Given the description of an element on the screen output the (x, y) to click on. 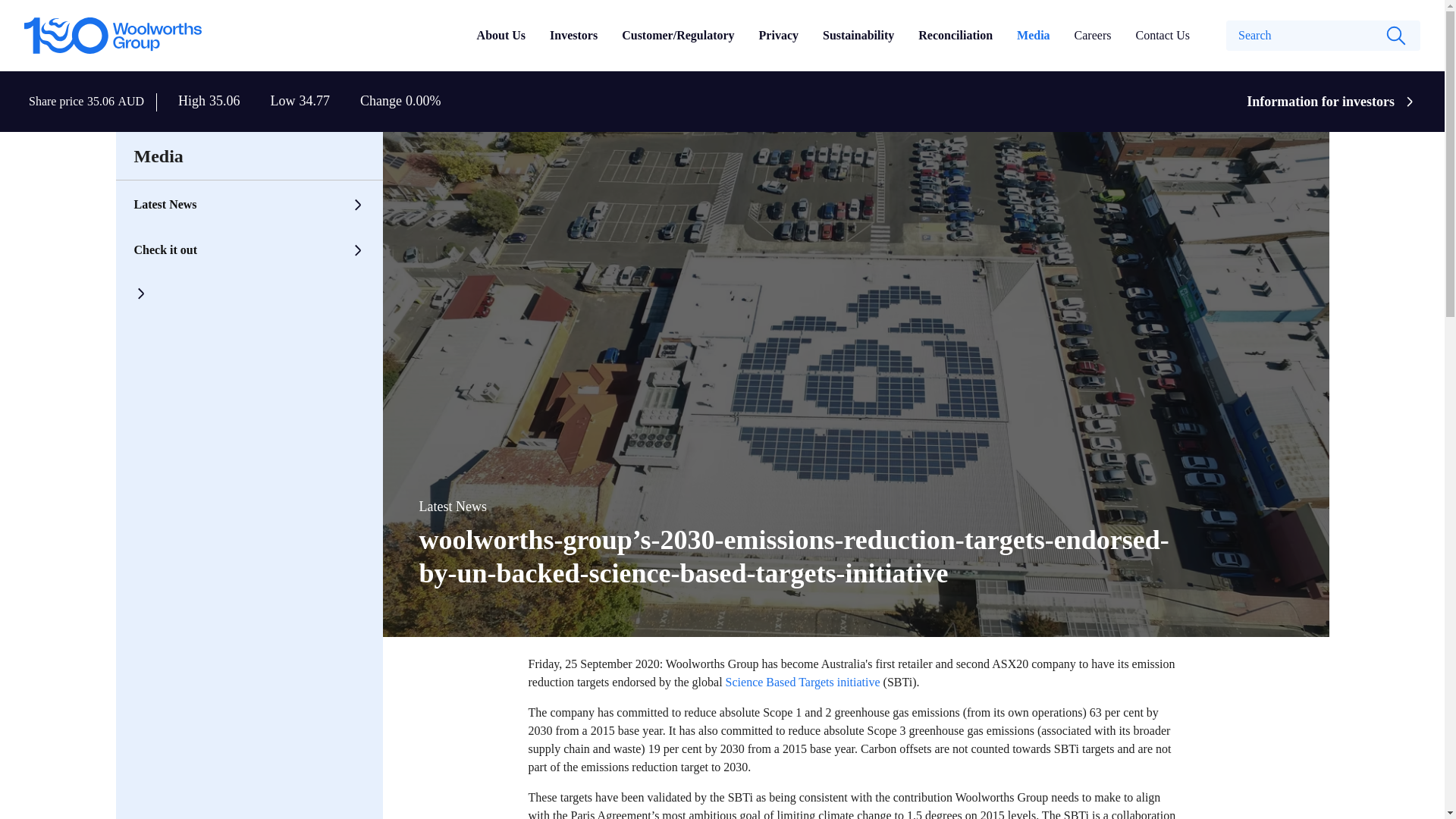
Investors (573, 35)
About Us (501, 35)
